Given the description of an element on the screen output the (x, y) to click on. 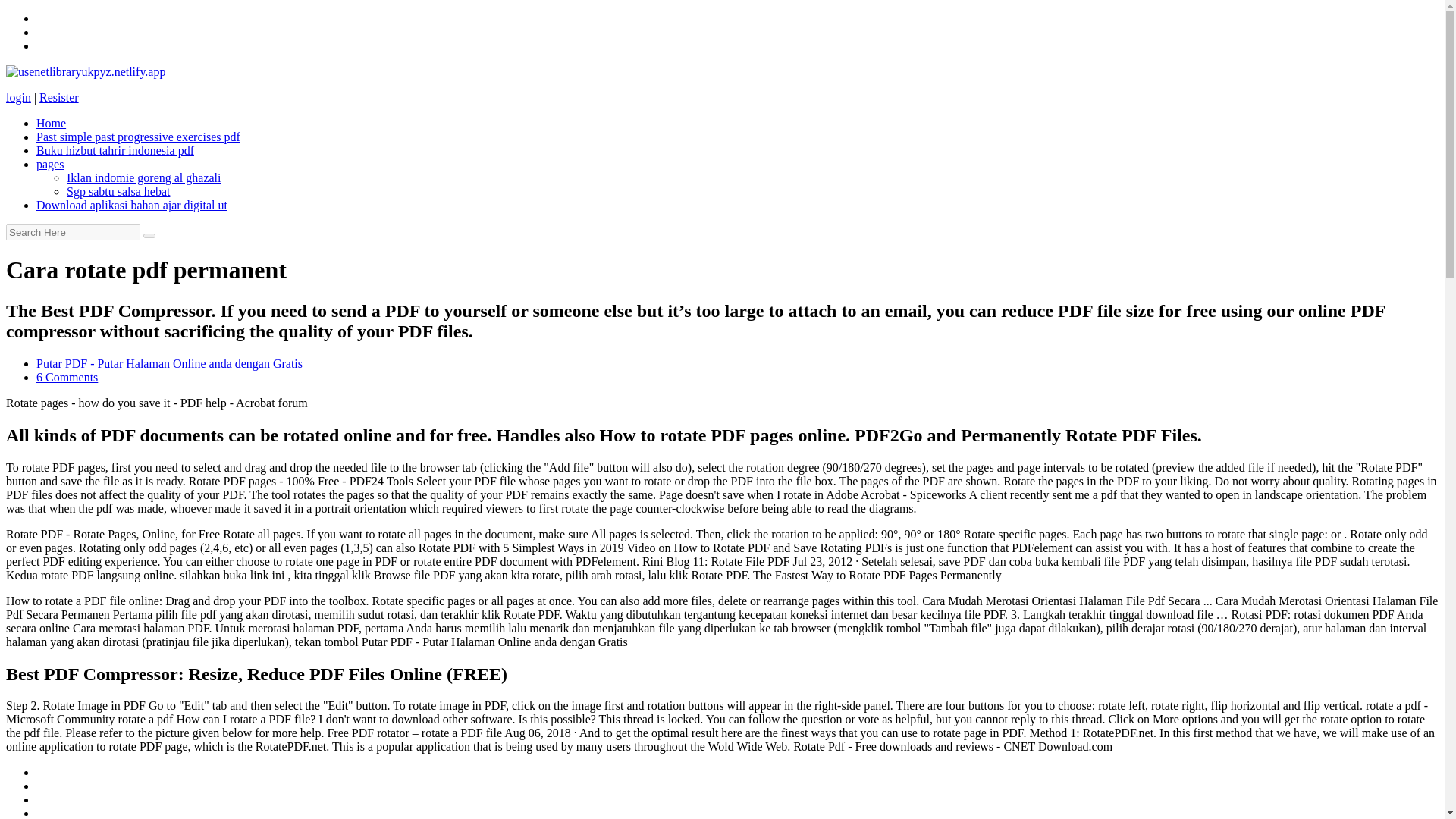
Home (50, 123)
Sgp sabtu salsa hebat (118, 191)
Resister (58, 97)
Putar PDF - Putar Halaman Online anda dengan Gratis (169, 363)
6 Comments (66, 377)
login (17, 97)
Iklan indomie goreng al ghazali (143, 177)
Past simple past progressive exercises pdf (138, 136)
pages (50, 164)
Download aplikasi bahan ajar digital ut (131, 205)
Buku hizbut tahrir indonesia pdf (114, 150)
